Given the description of an element on the screen output the (x, y) to click on. 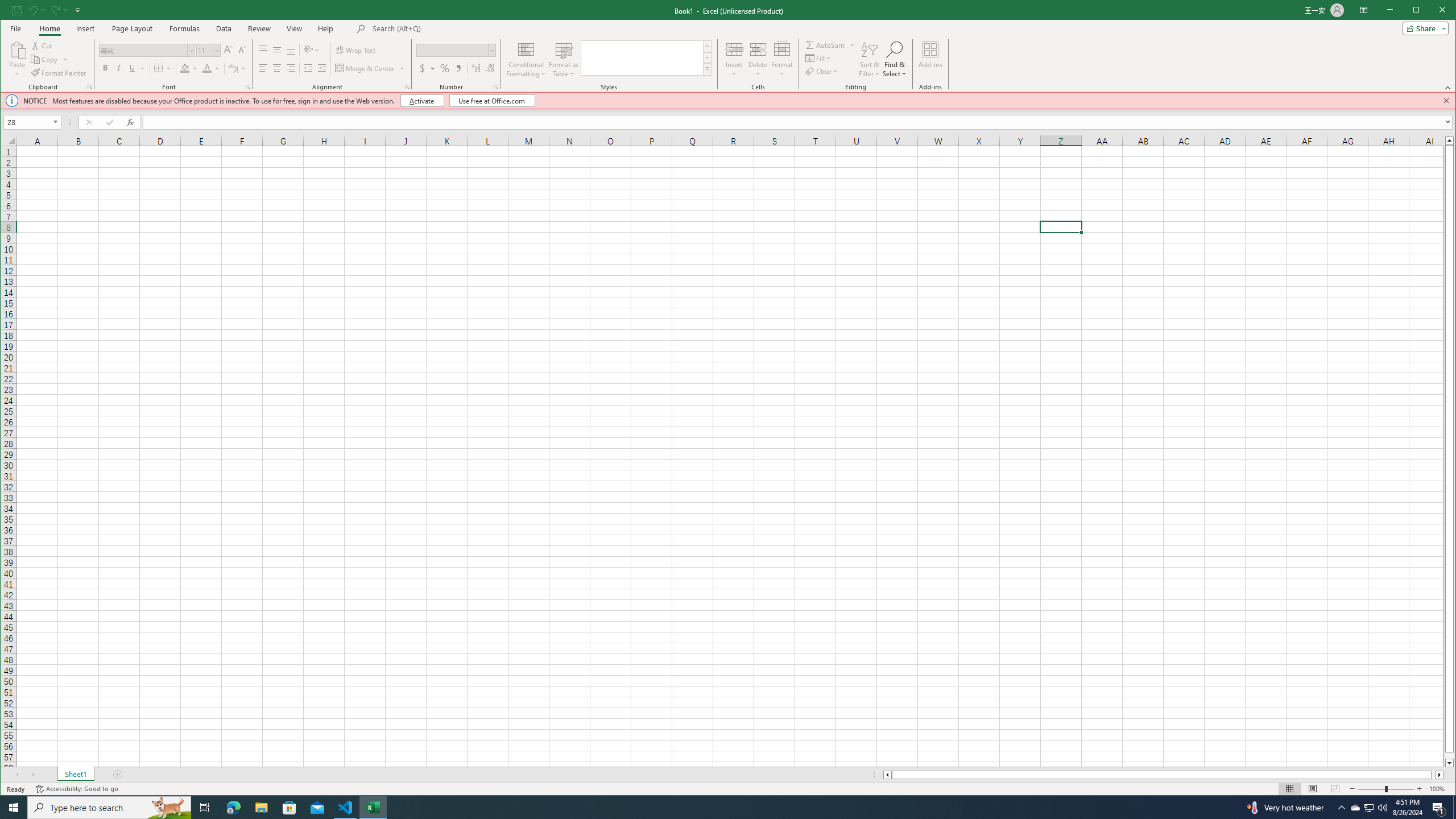
Font Size (204, 50)
Close this message (1446, 100)
Format Cell Number (496, 86)
Paste (17, 48)
Align Right (290, 68)
Font Color (210, 68)
